Given the description of an element on the screen output the (x, y) to click on. 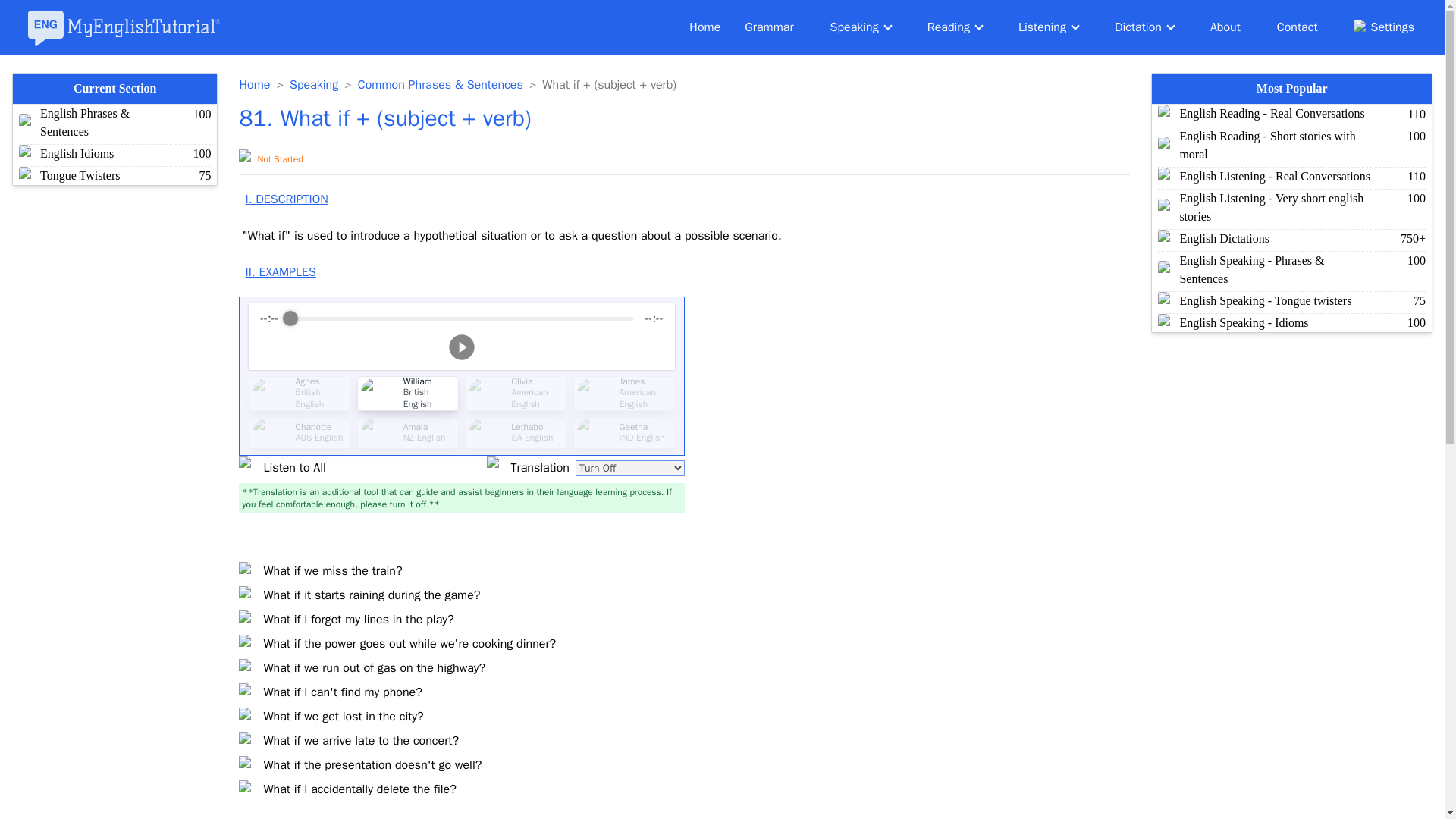
Reading (954, 27)
Grammar (768, 27)
Speaking (859, 27)
About (1224, 27)
Speaking (313, 84)
Home (704, 27)
Settings (1383, 27)
Grammar (768, 27)
Home (704, 27)
About (1224, 27)
Home (253, 84)
Dictation (1144, 27)
Settings (1383, 27)
English Idioms (76, 153)
Contact (1296, 27)
